Given the description of an element on the screen output the (x, y) to click on. 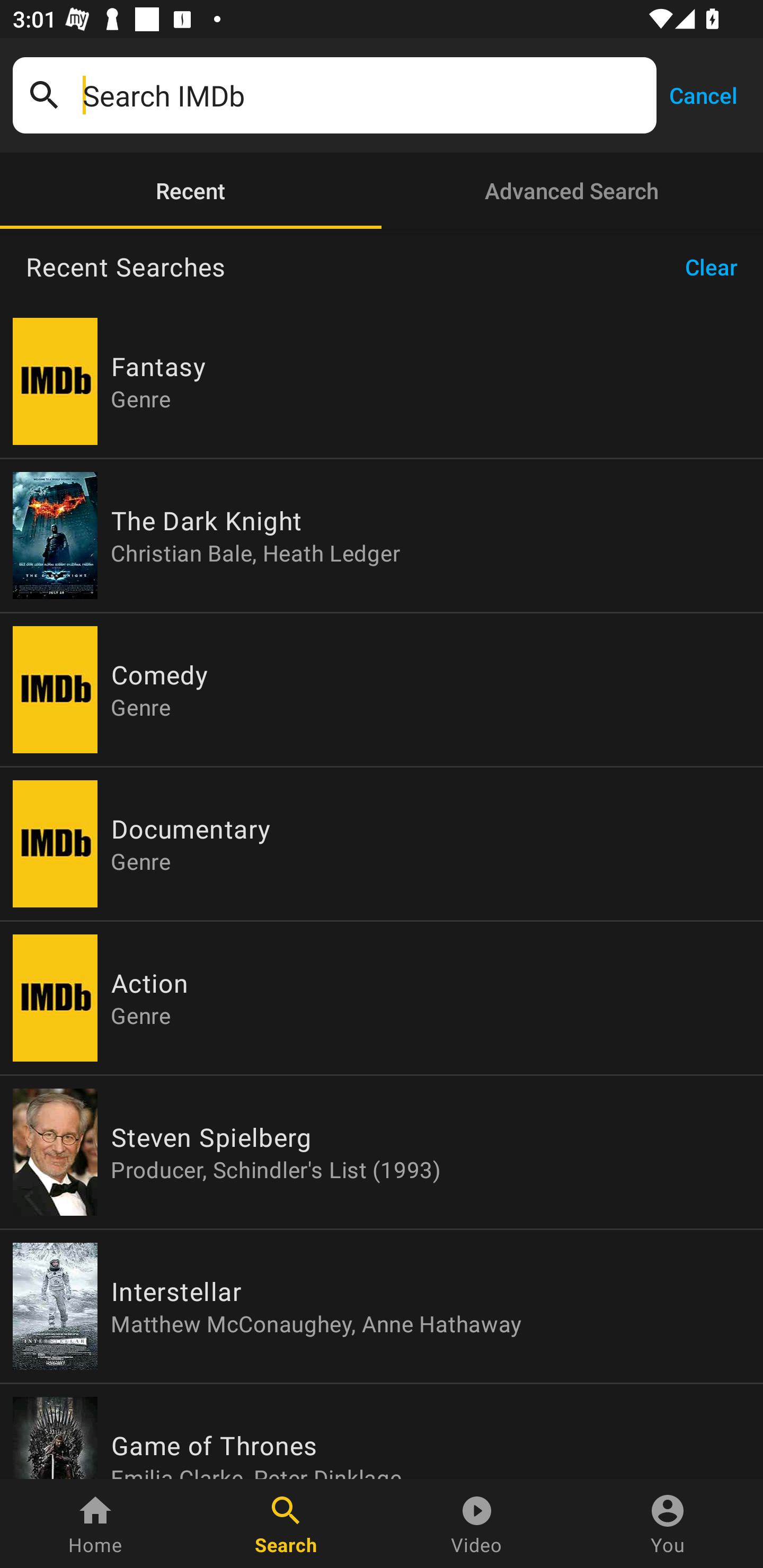
Cancel (703, 94)
Search IMDb (363, 95)
Advanced Search (572, 190)
Clear (717, 266)
Fantasy Genre (381, 381)
The Dark Knight Christian Bale, Heath Ledger (381, 535)
Comedy Genre (381, 689)
Documentary Genre (381, 844)
Action Genre (381, 997)
Steven Spielberg Producer, Schindler's List (1993) (381, 1151)
Interstellar Matthew McConaughey, Anne Hathaway (381, 1305)
Game of Thrones Emilia Clarke, Peter Dinklage (381, 1431)
Home (95, 1523)
Video (476, 1523)
You (667, 1523)
